Given the description of an element on the screen output the (x, y) to click on. 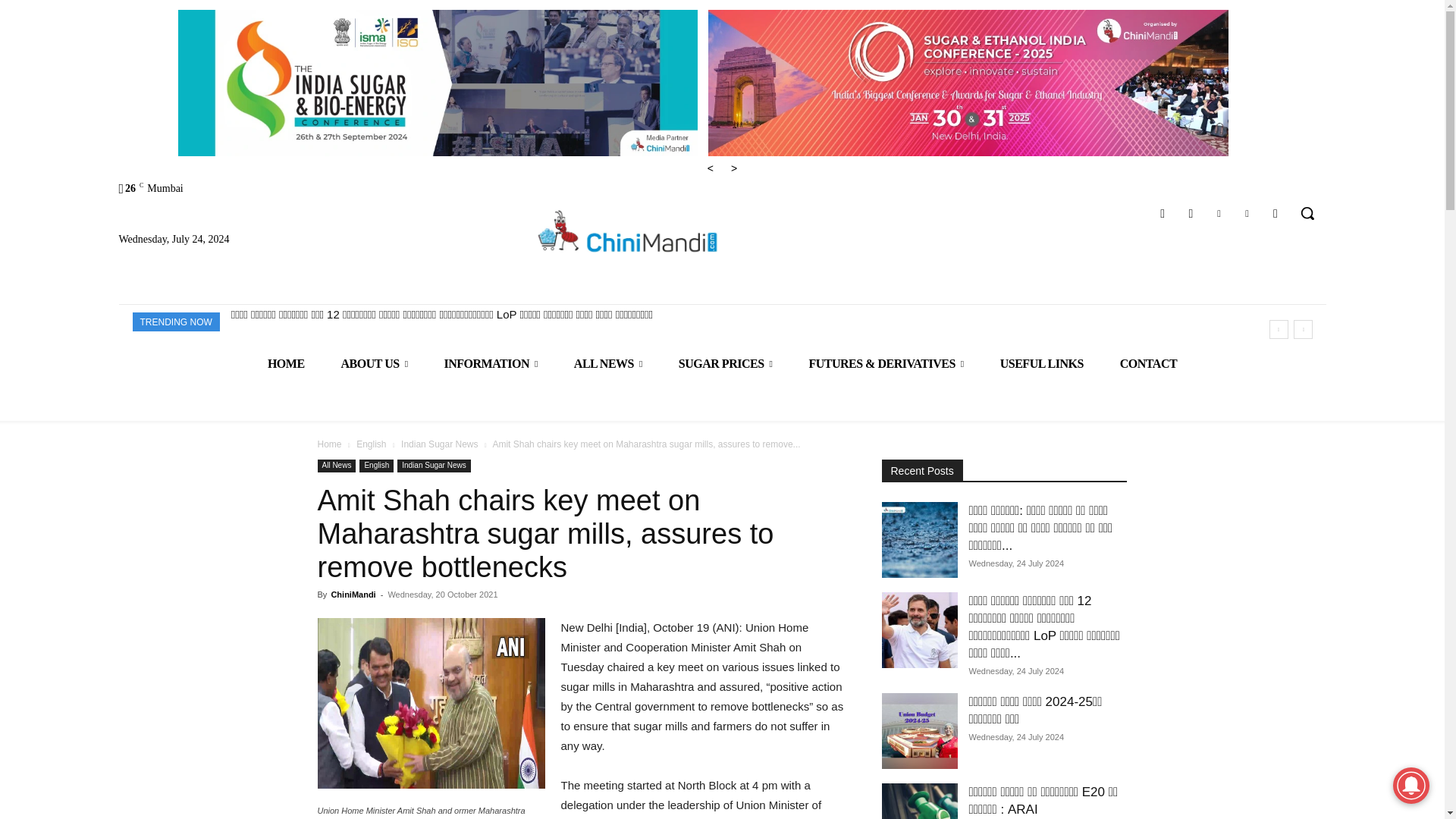
Facebook (1163, 213)
Youtube (1275, 213)
Linkedin (1218, 213)
Instagram (1190, 213)
Twitter (1246, 213)
